Given the description of an element on the screen output the (x, y) to click on. 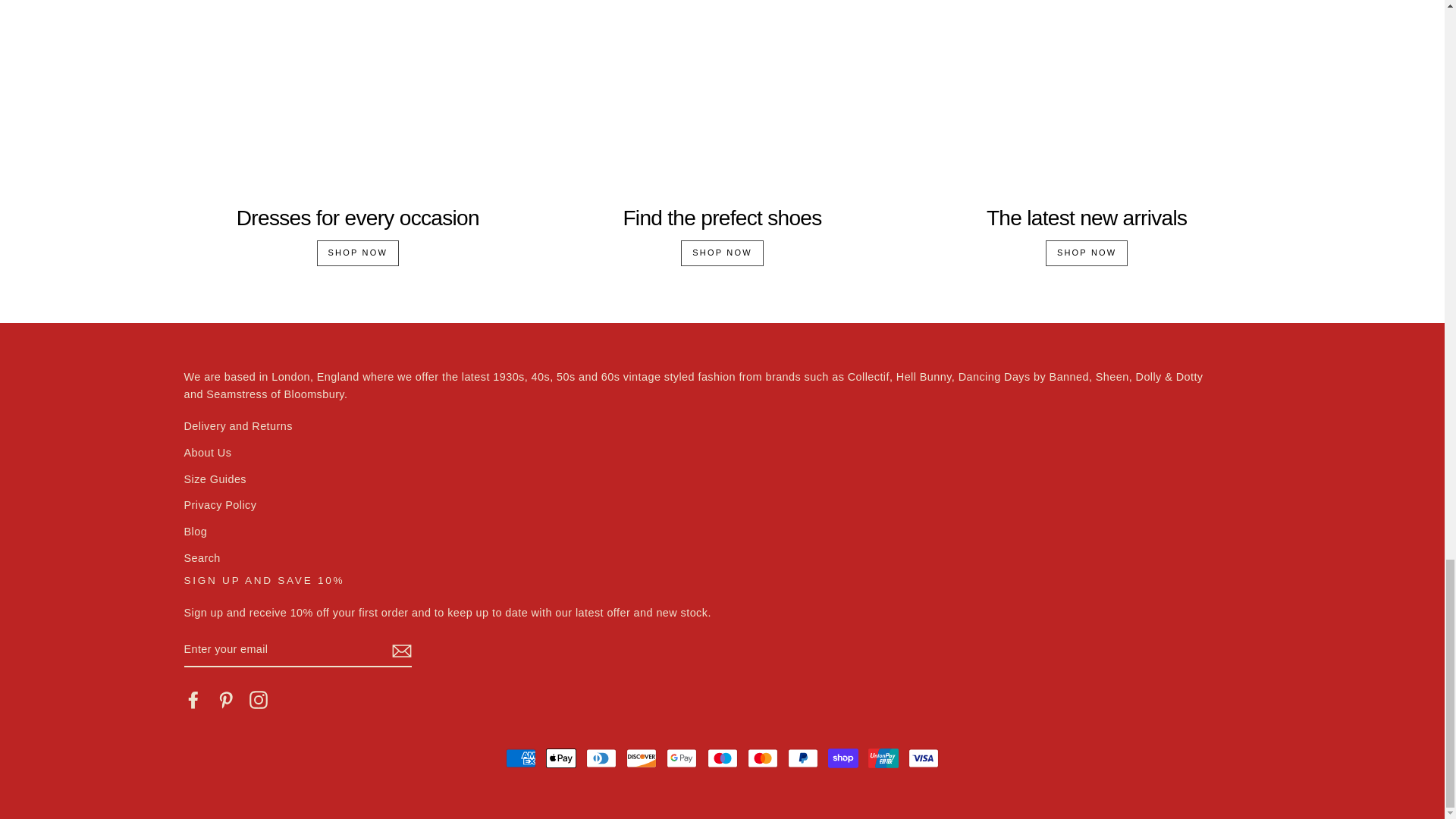
Cherry Red Vintage on Pinterest (225, 699)
Diners Club (600, 757)
Cherry Red Vintage on Instagram (257, 699)
Google Pay (681, 757)
Discover (641, 757)
American Express (520, 757)
Cherry Red Vintage on Facebook (192, 699)
Apple Pay (561, 757)
